Given the description of an element on the screen output the (x, y) to click on. 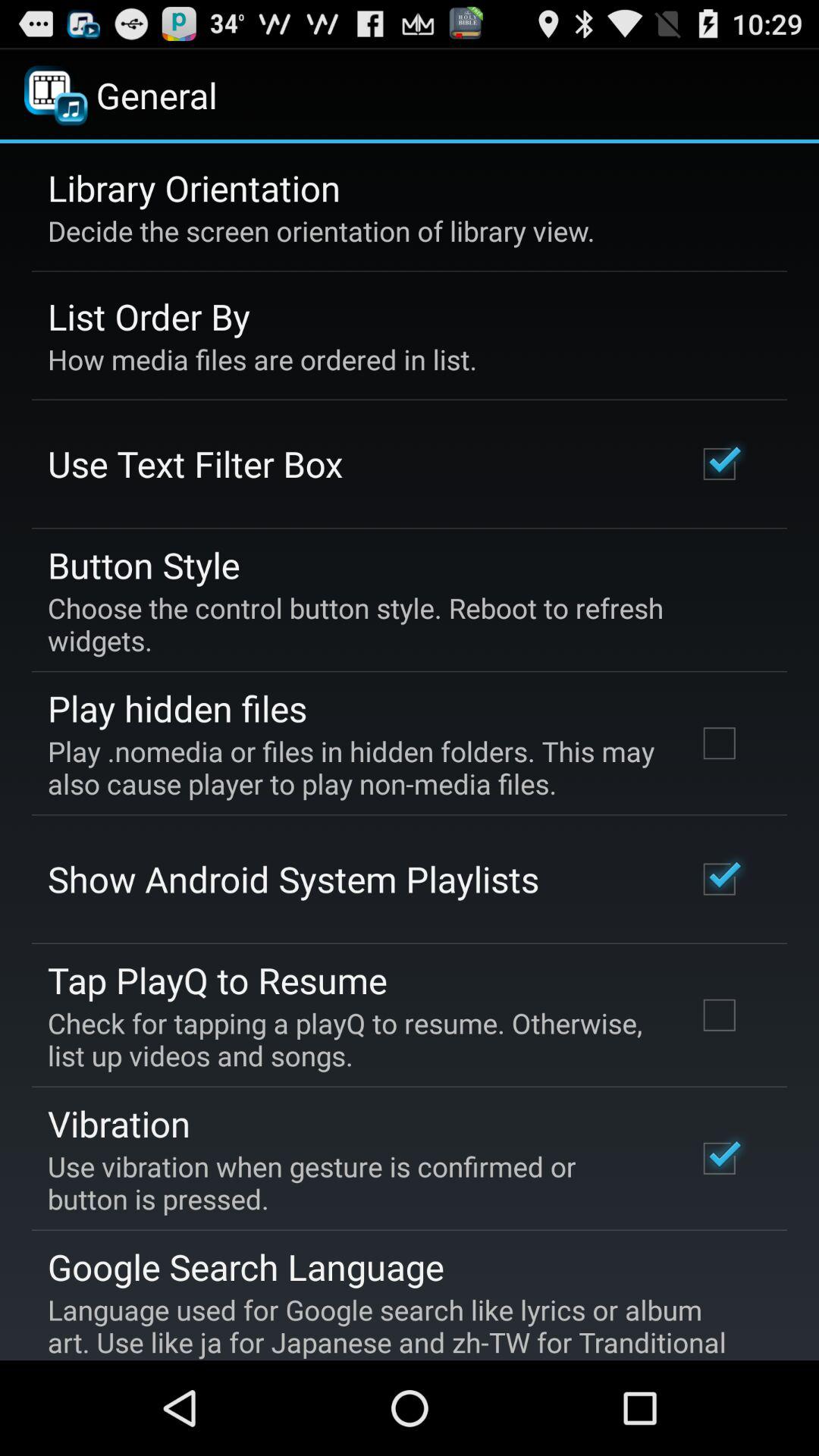
launch show android system (293, 878)
